Given the description of an element on the screen output the (x, y) to click on. 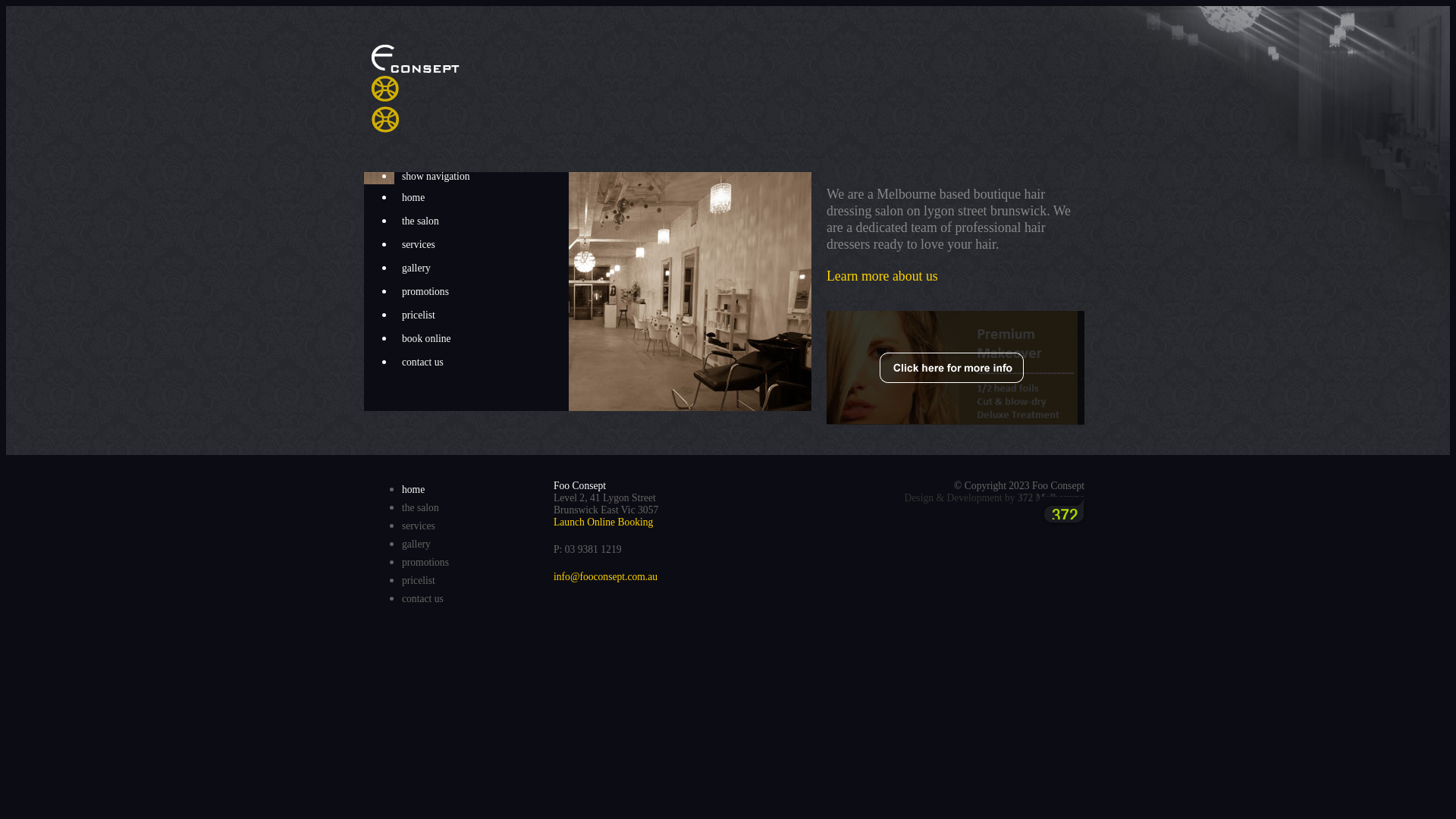
home Element type: text (481, 197)
gallery Element type: text (481, 268)
contact us Element type: text (422, 598)
Hair Dresser Brunswick Melbourne Australia - Foo Consept Element type: text (415, 88)
Launch Online Booking Element type: text (602, 521)
book online Element type: text (481, 338)
info@fooconsept.com.au Element type: text (605, 576)
contact us Element type: text (481, 362)
pricelist Element type: text (481, 315)
Learn more about us Element type: text (882, 275)
pricelist Element type: text (418, 580)
home Element type: text (412, 489)
the salon Element type: text (420, 507)
Design & Development by 372 Melbourne Element type: text (993, 497)
services Element type: text (481, 244)
gallery Element type: text (415, 543)
promotions Element type: text (481, 291)
promotions Element type: text (424, 561)
Click here for more info Element type: text (955, 367)
the salon Element type: text (481, 221)
show navigation Element type: text (481, 176)
services Element type: text (418, 525)
